Given the description of an element on the screen output the (x, y) to click on. 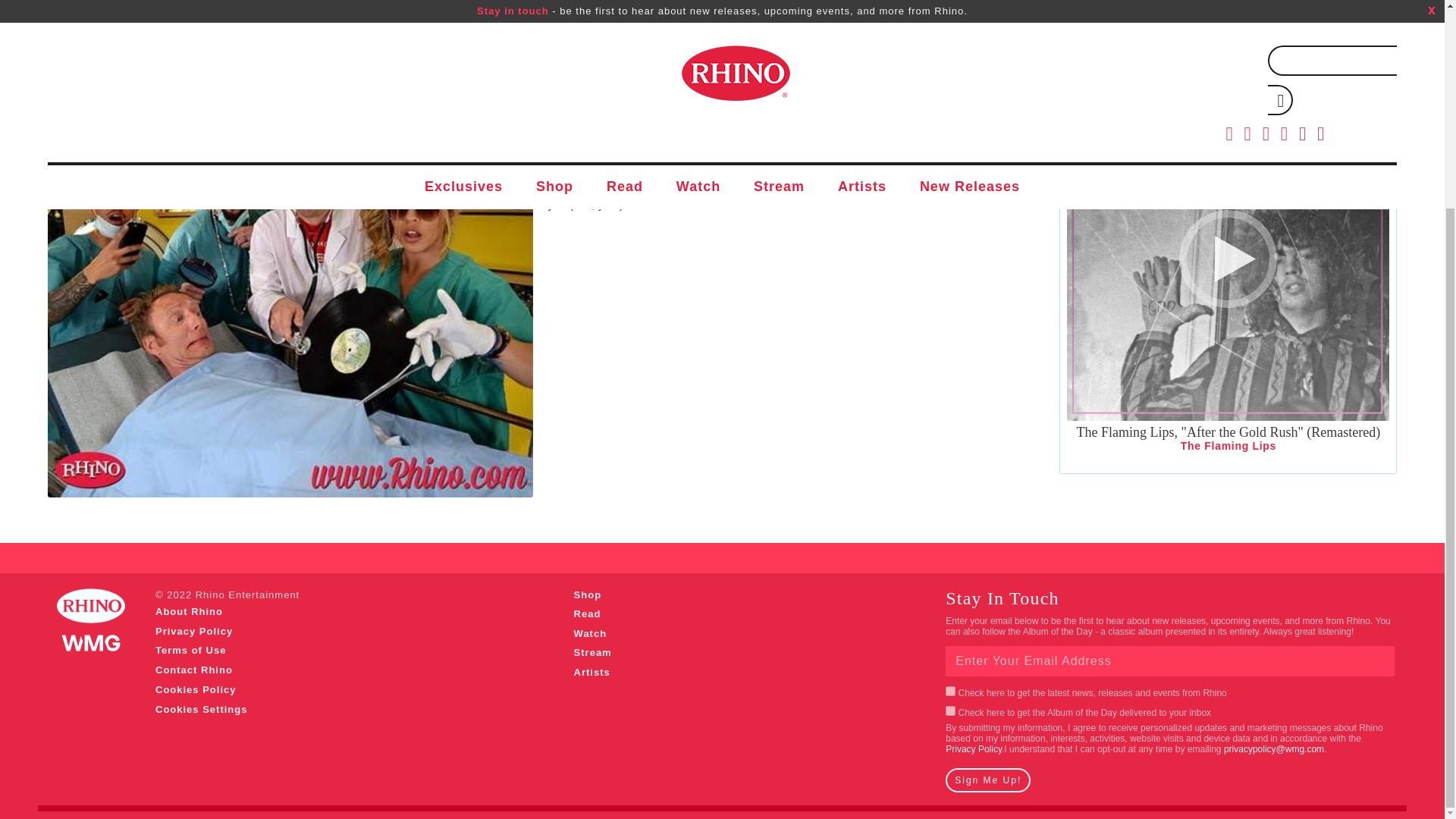
Sign Me Up! (987, 780)
yes (949, 691)
yes (949, 710)
Follow link (972, 748)
